Given the description of an element on the screen output the (x, y) to click on. 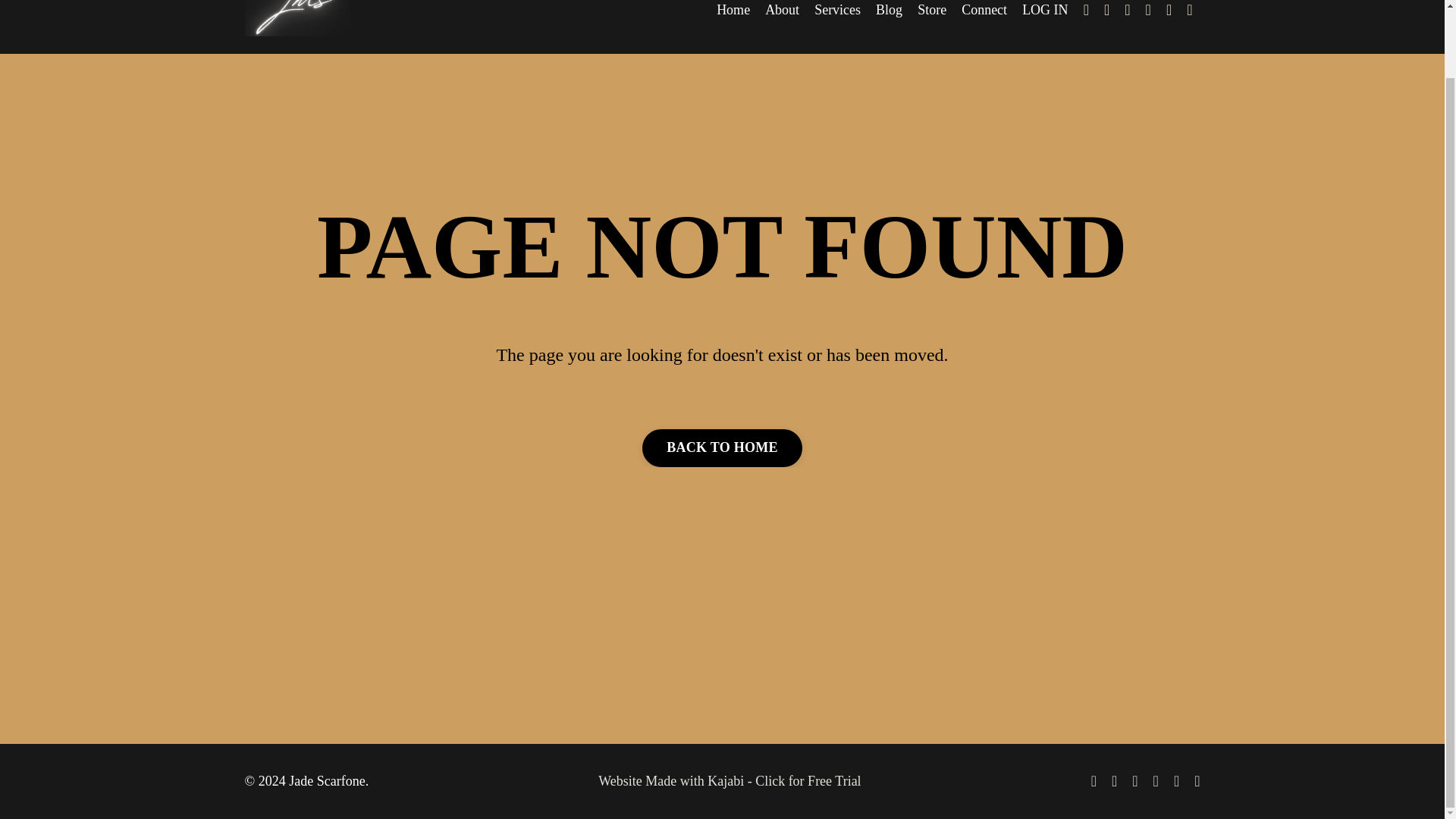
LOG IN (1045, 9)
BACK TO HOME (722, 447)
About (782, 10)
Connect (983, 10)
Services (836, 10)
Blog (889, 10)
Website Made with Kajabi - Click for Free Trial (729, 780)
Store (931, 10)
Home (732, 10)
